Given the description of an element on the screen output the (x, y) to click on. 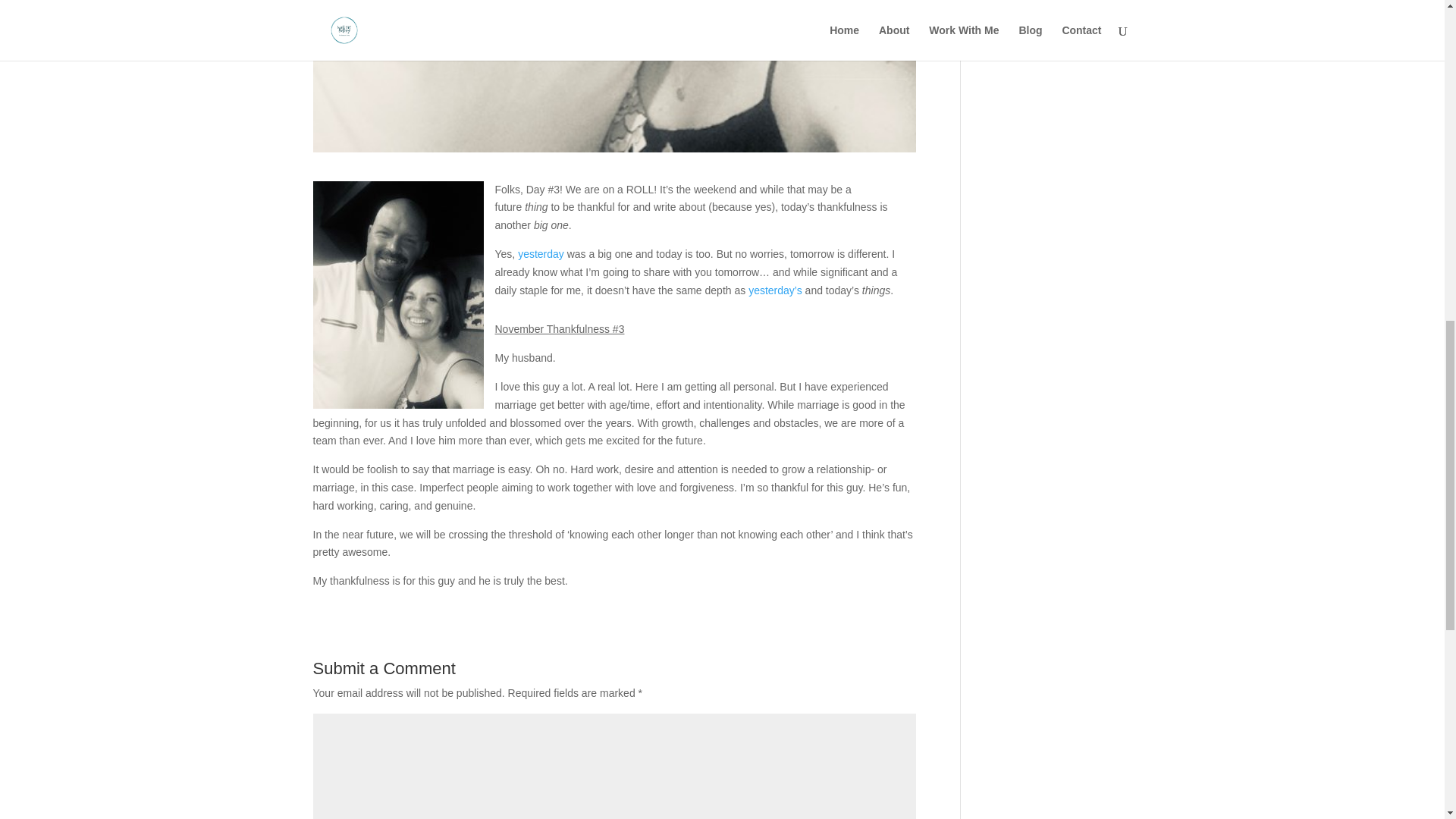
yesterday (542, 254)
